Given the description of an element on the screen output the (x, y) to click on. 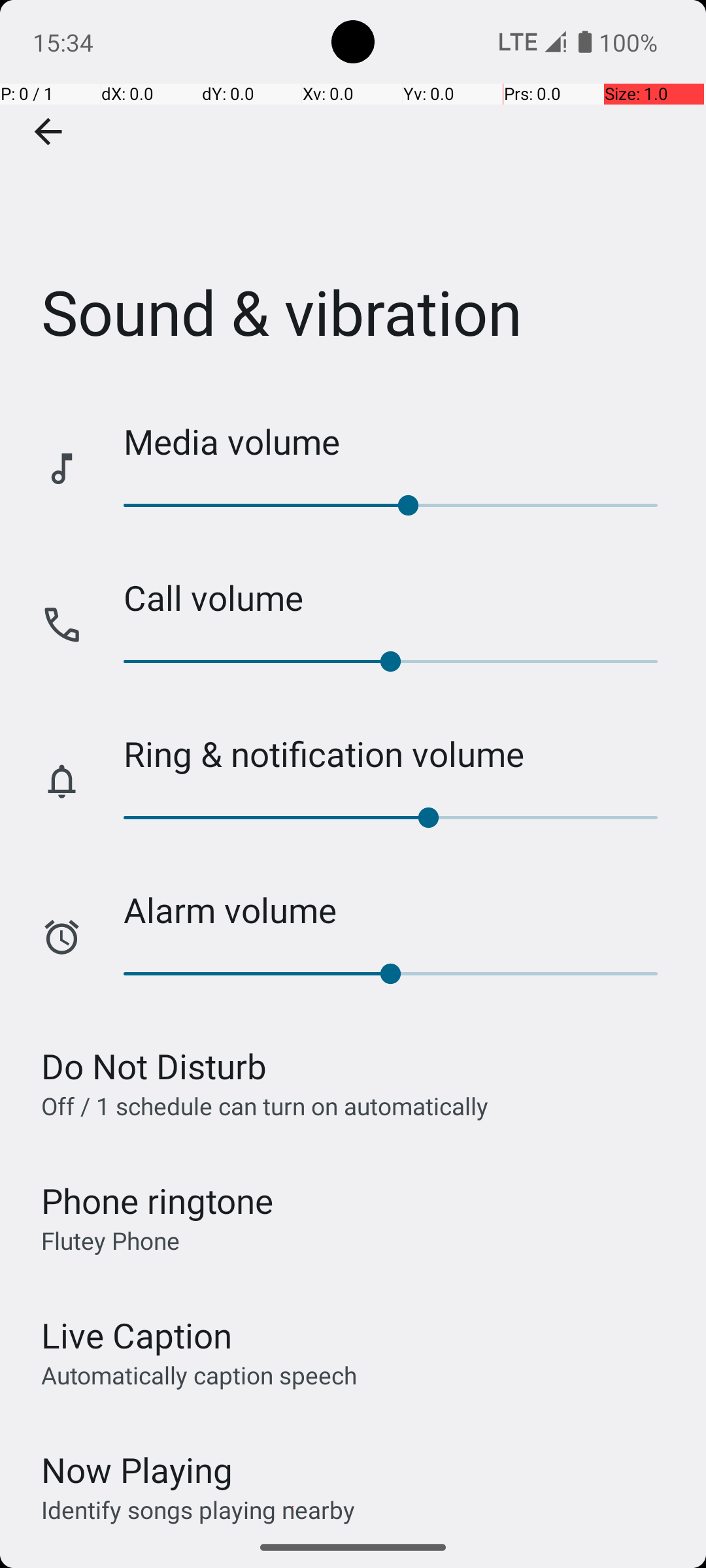
Off / 1 schedule can turn on automatically Element type: android.widget.TextView (264, 1105)
